Given the description of an element on the screen output the (x, y) to click on. 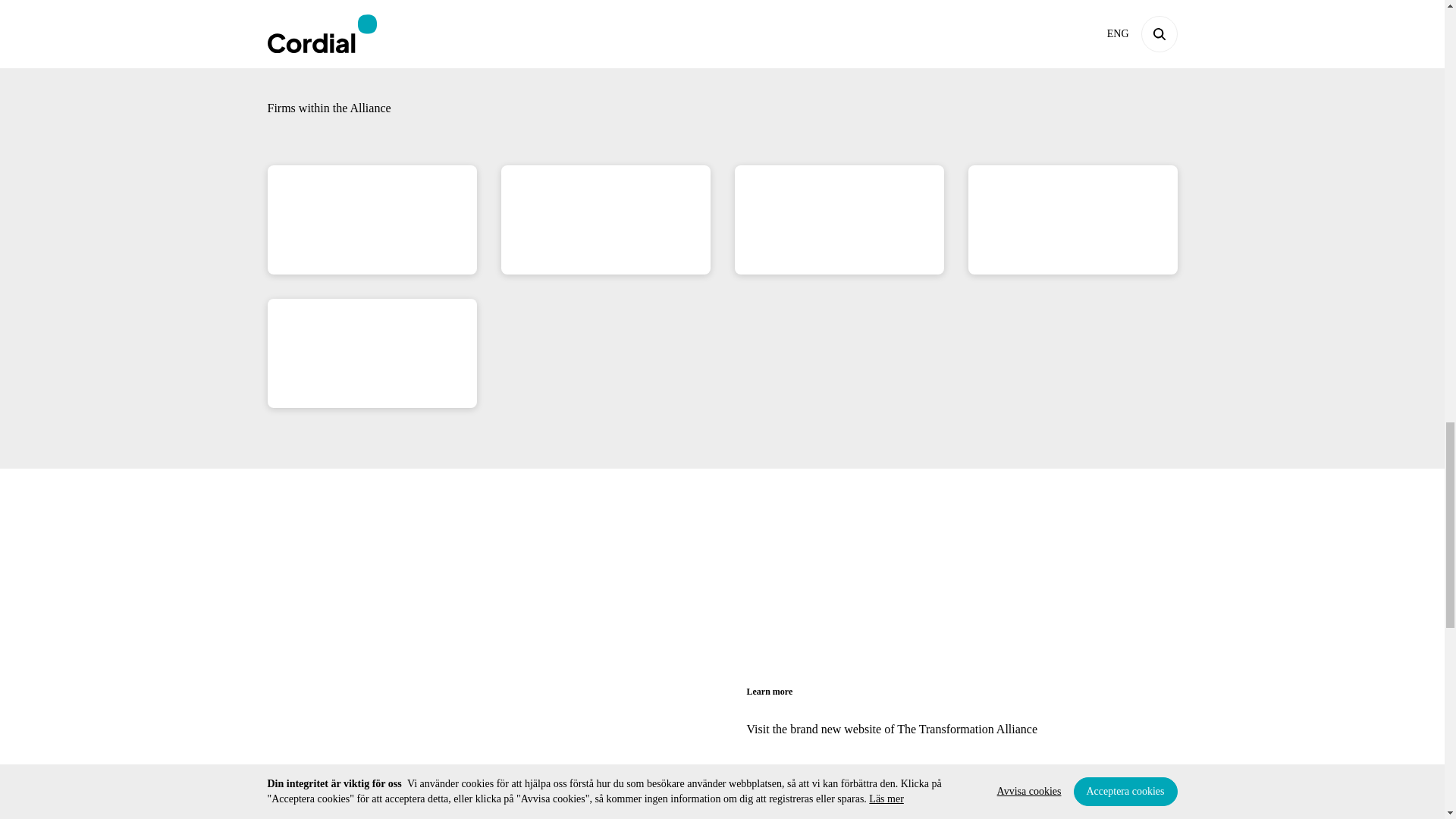
Visit now (785, 785)
Visit the brand new website of The Transformation Alliance (890, 728)
